Given the description of an element on the screen output the (x, y) to click on. 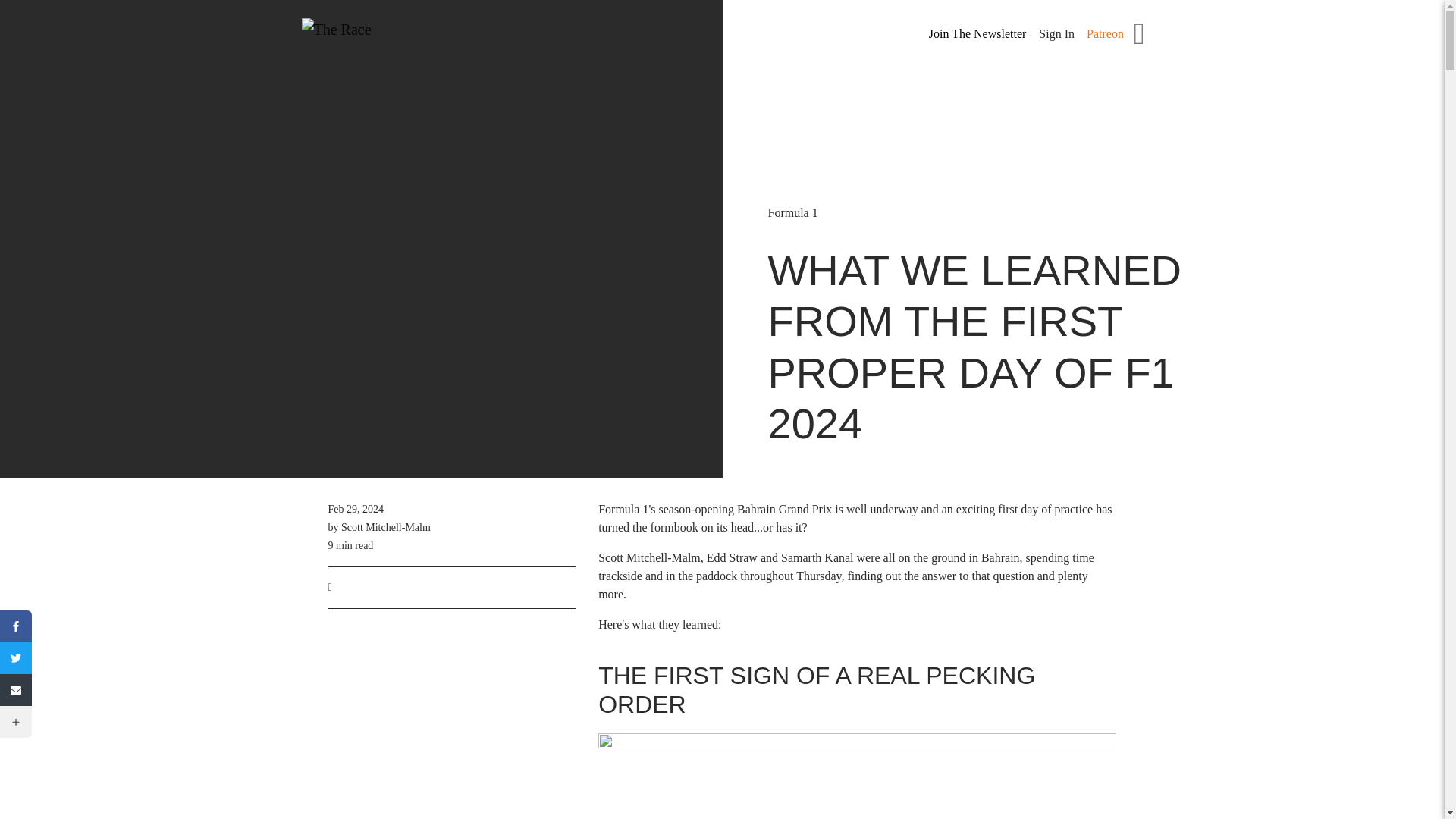
Join The Newsletter (977, 34)
Patreon (1105, 33)
Sign In (1056, 33)
